Given the description of an element on the screen output the (x, y) to click on. 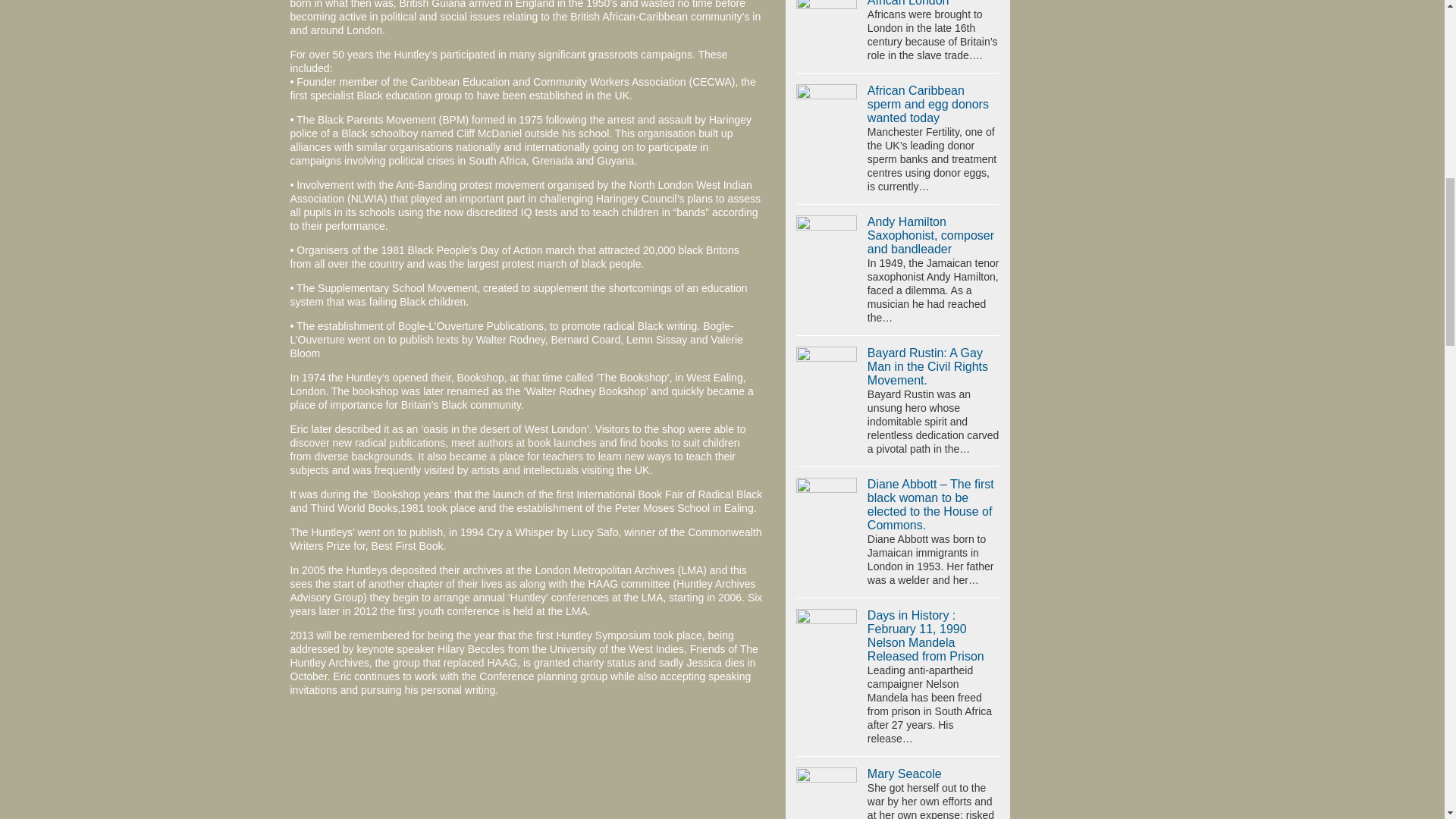
African London (826, 18)
African Caribbean sperm and egg donors wanted today (826, 105)
African London (908, 3)
